Given the description of an element on the screen output the (x, y) to click on. 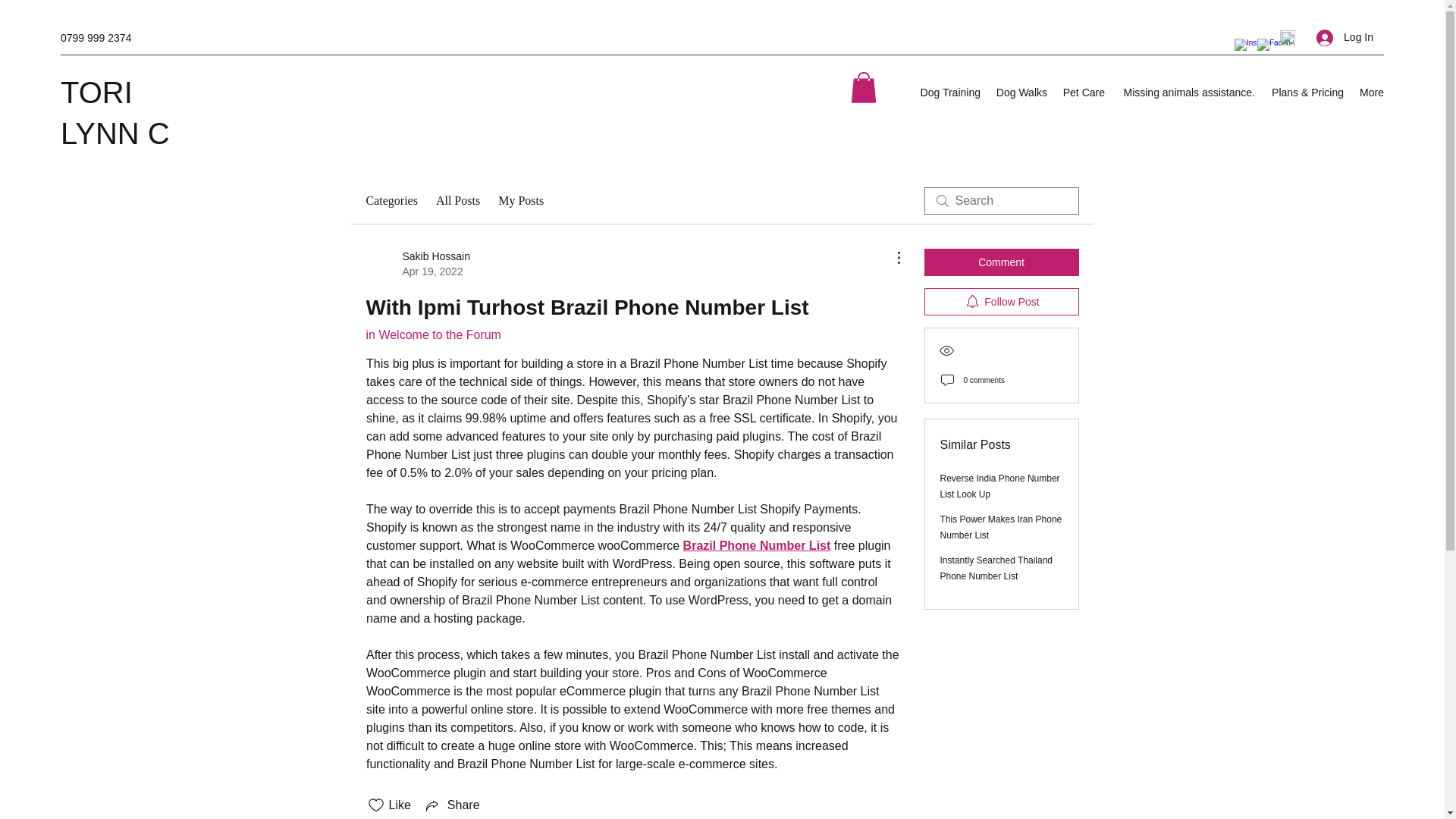
Brazil Phone Number List (755, 545)
All Posts (457, 200)
in Welcome to the Forum (432, 334)
Dog Walks (1021, 92)
Share (451, 805)
Comment (1000, 262)
Instantly Searched Thailand Phone Number List (996, 568)
Categories (390, 200)
My Posts (520, 200)
Dog Training (949, 92)
